Given the description of an element on the screen output the (x, y) to click on. 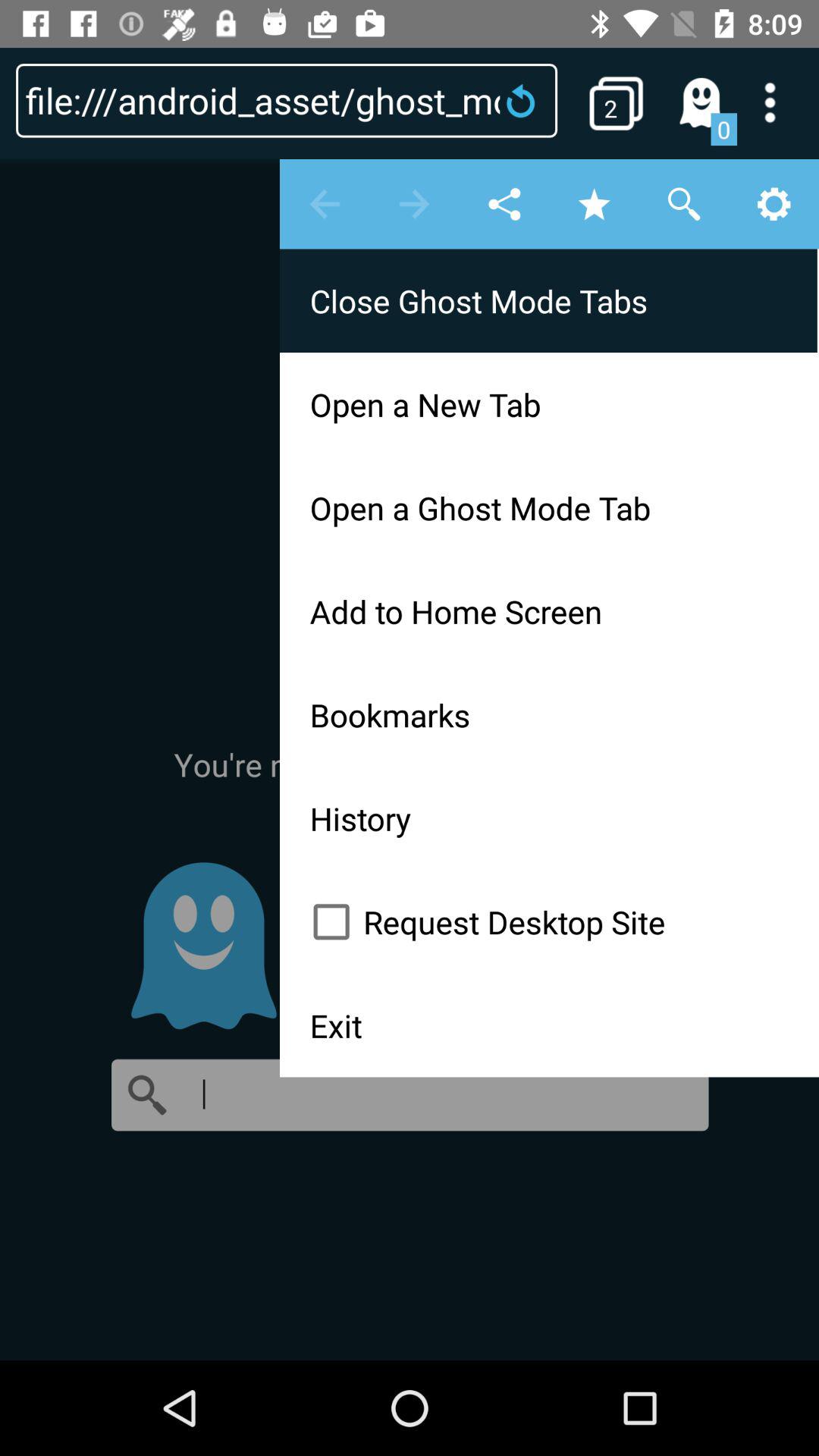
reload the page (525, 100)
